Given the description of an element on the screen output the (x, y) to click on. 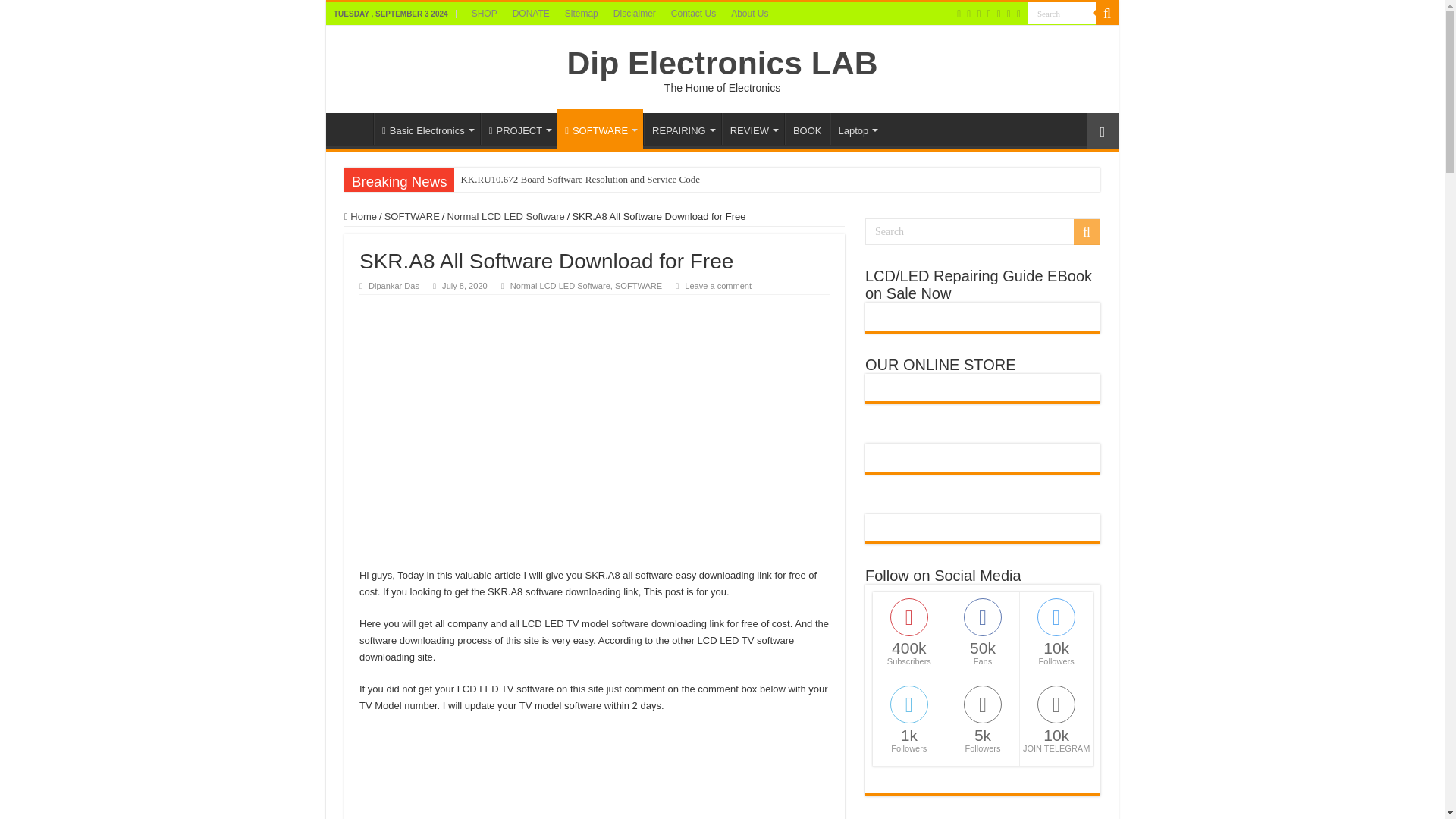
Contact Us (693, 13)
Search (1061, 13)
SOFTWARE (600, 128)
Search (1061, 13)
Sitemap (581, 13)
DONATE (531, 13)
Basic Electronics (427, 128)
PROJECT (518, 128)
Dip Electronics LAB (721, 63)
Search (1107, 13)
